Given the description of an element on the screen output the (x, y) to click on. 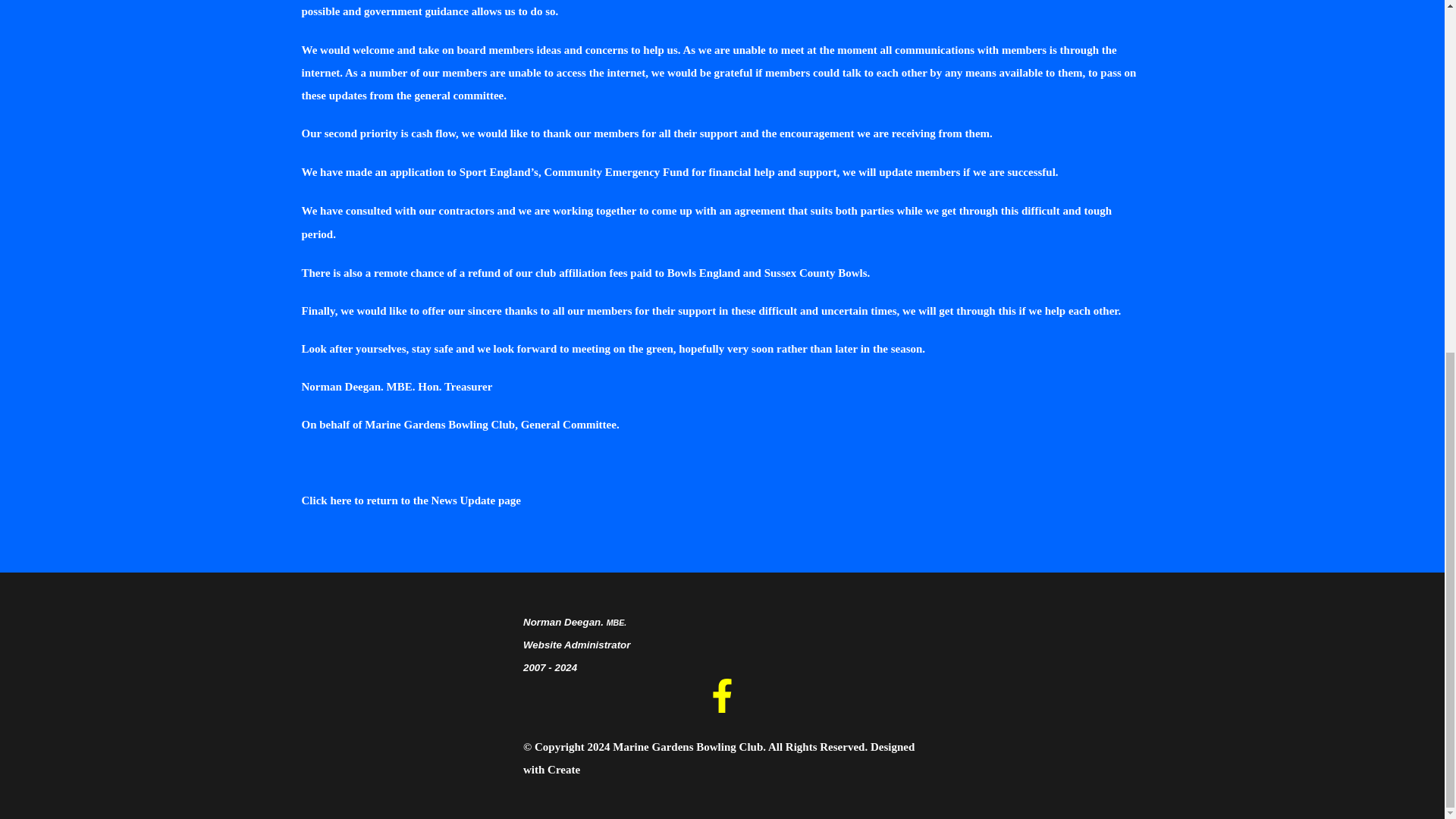
Click here to return to the News Update page (411, 500)
Create (563, 769)
